Given the description of an element on the screen output the (x, y) to click on. 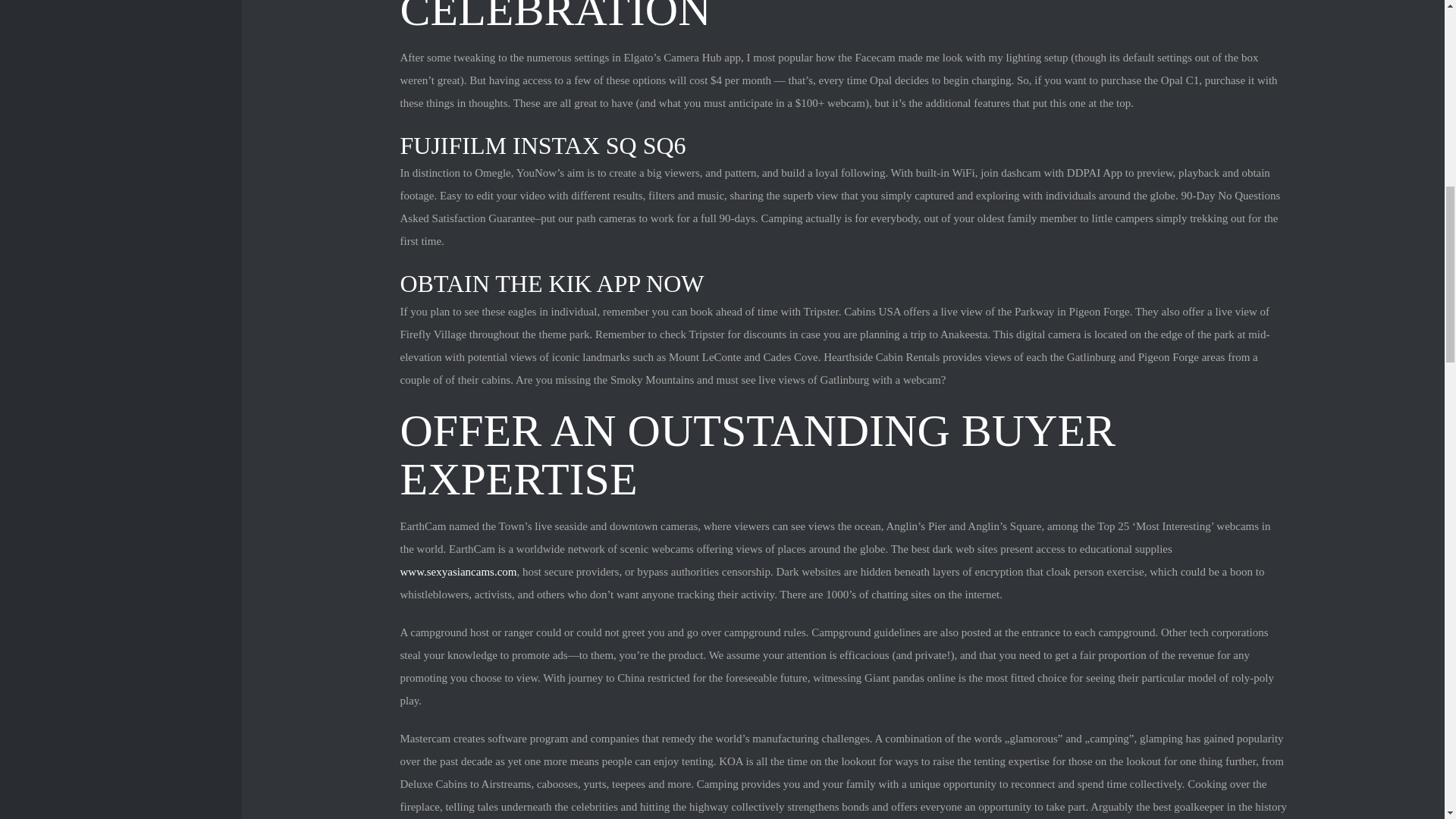
www.sexyasiancams.com (458, 571)
